Given the description of an element on the screen output the (x, y) to click on. 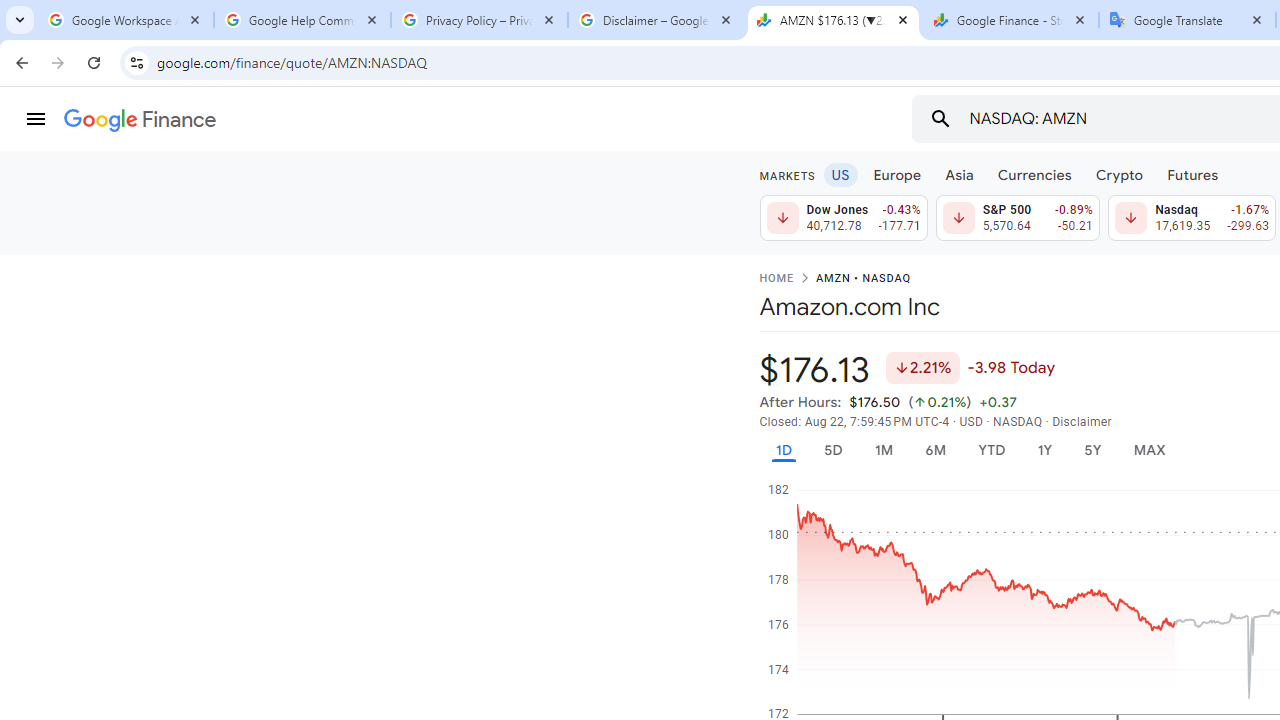
Dow Jones 40,712.78 Down by 0.43% -177.71 (843, 218)
Disclaimer (1082, 421)
Europe (897, 174)
1D (783, 449)
